Given the description of an element on the screen output the (x, y) to click on. 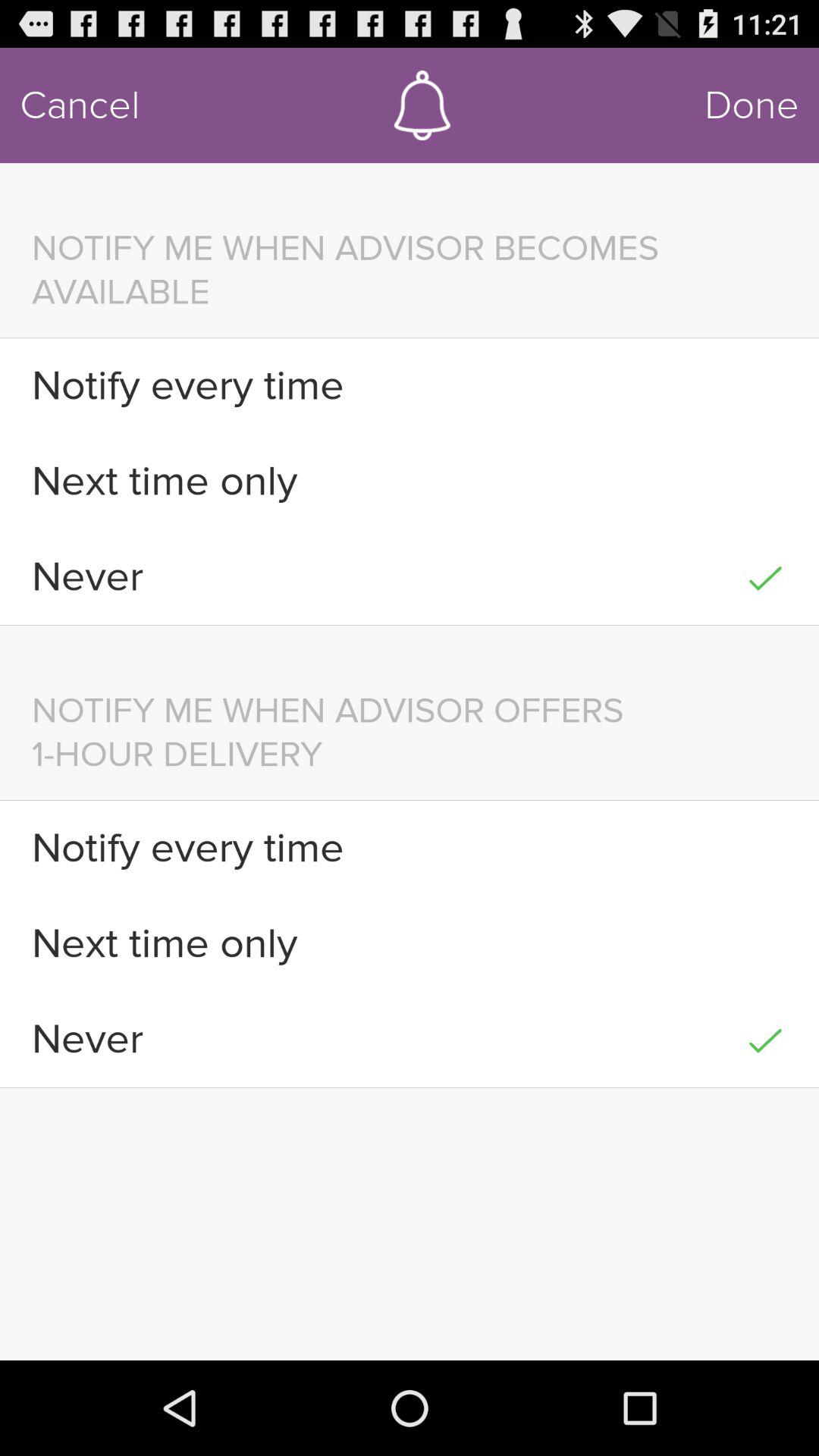
open the item above notify me when icon (751, 105)
